Given the description of an element on the screen output the (x, y) to click on. 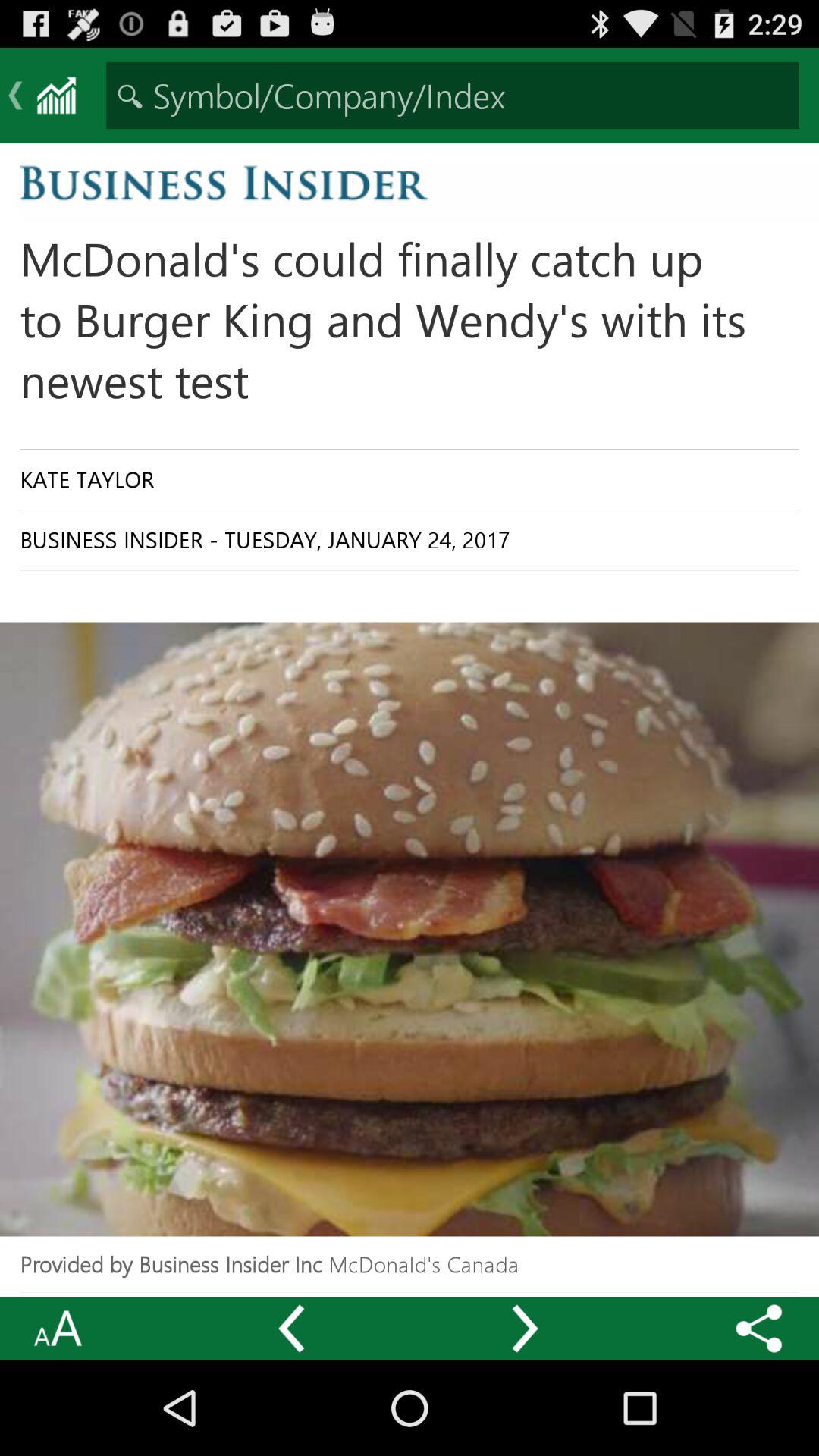
open the icon at the bottom right corner (759, 1328)
